Given the description of an element on the screen output the (x, y) to click on. 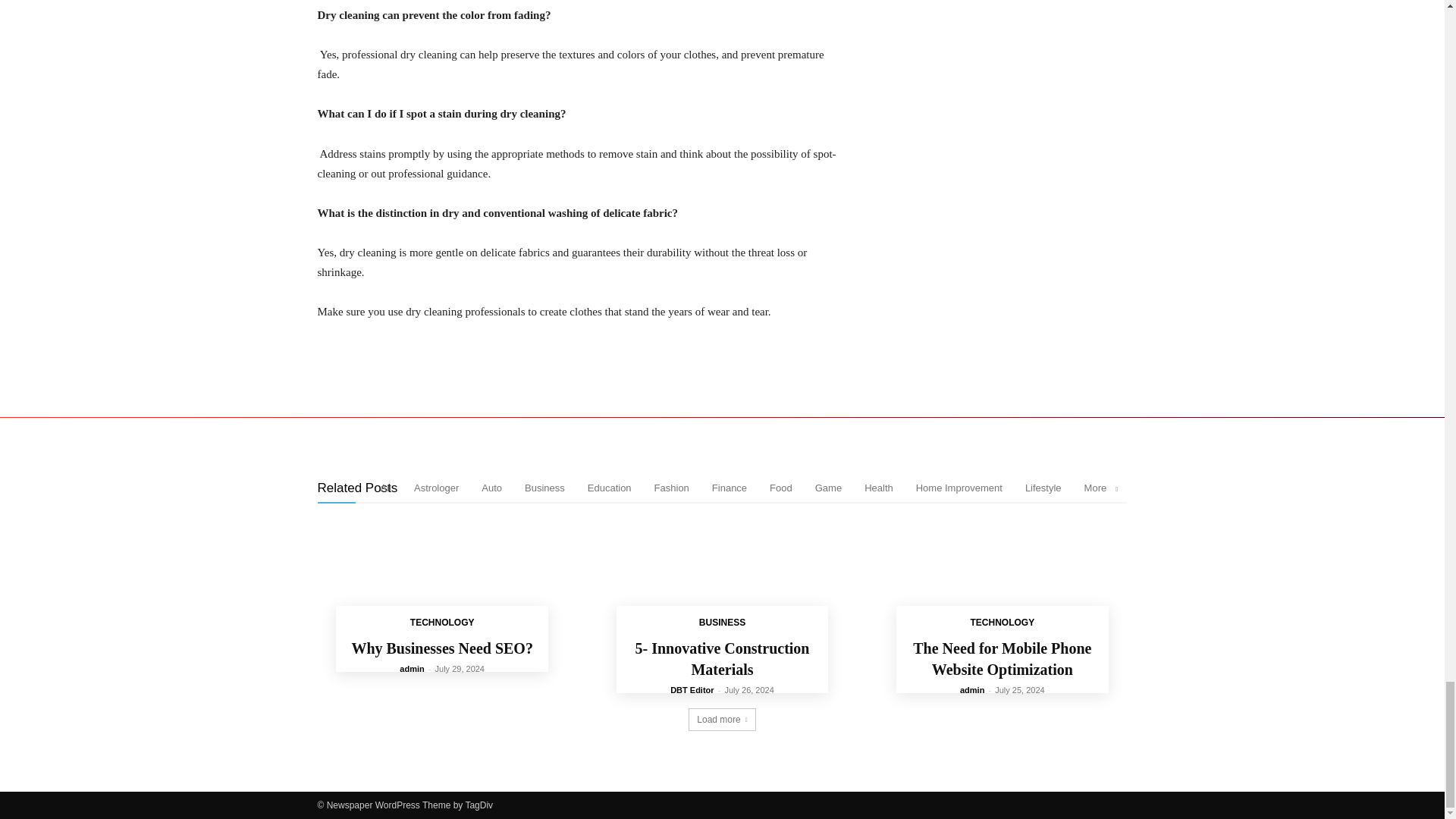
Auto (491, 487)
Business (544, 487)
The Need for Mobile Phone Website Optimization (1001, 658)
The Need for Mobile Phone Website Optimization (1001, 580)
Why Businesses Need SEO? (441, 647)
Fashion (670, 487)
Education (609, 487)
Astrologer (435, 487)
5- Innovative Construction Materials (721, 580)
All (385, 487)
5- Innovative Construction Materials (721, 658)
Why Businesses Need SEO? (441, 580)
Finance (728, 487)
